Given the description of an element on the screen output the (x, y) to click on. 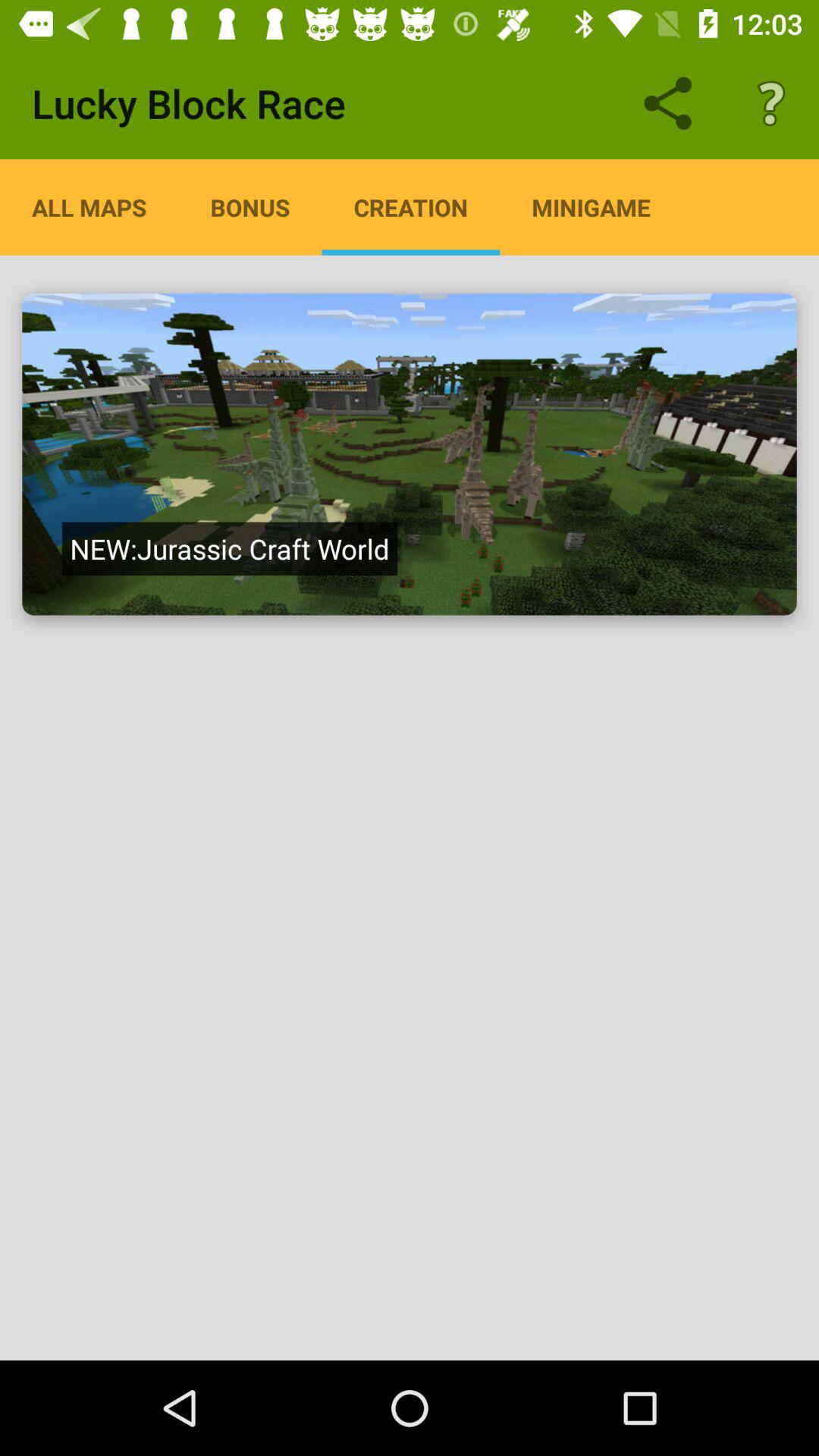
select icon next to the bonus app (89, 207)
